Given the description of an element on the screen output the (x, y) to click on. 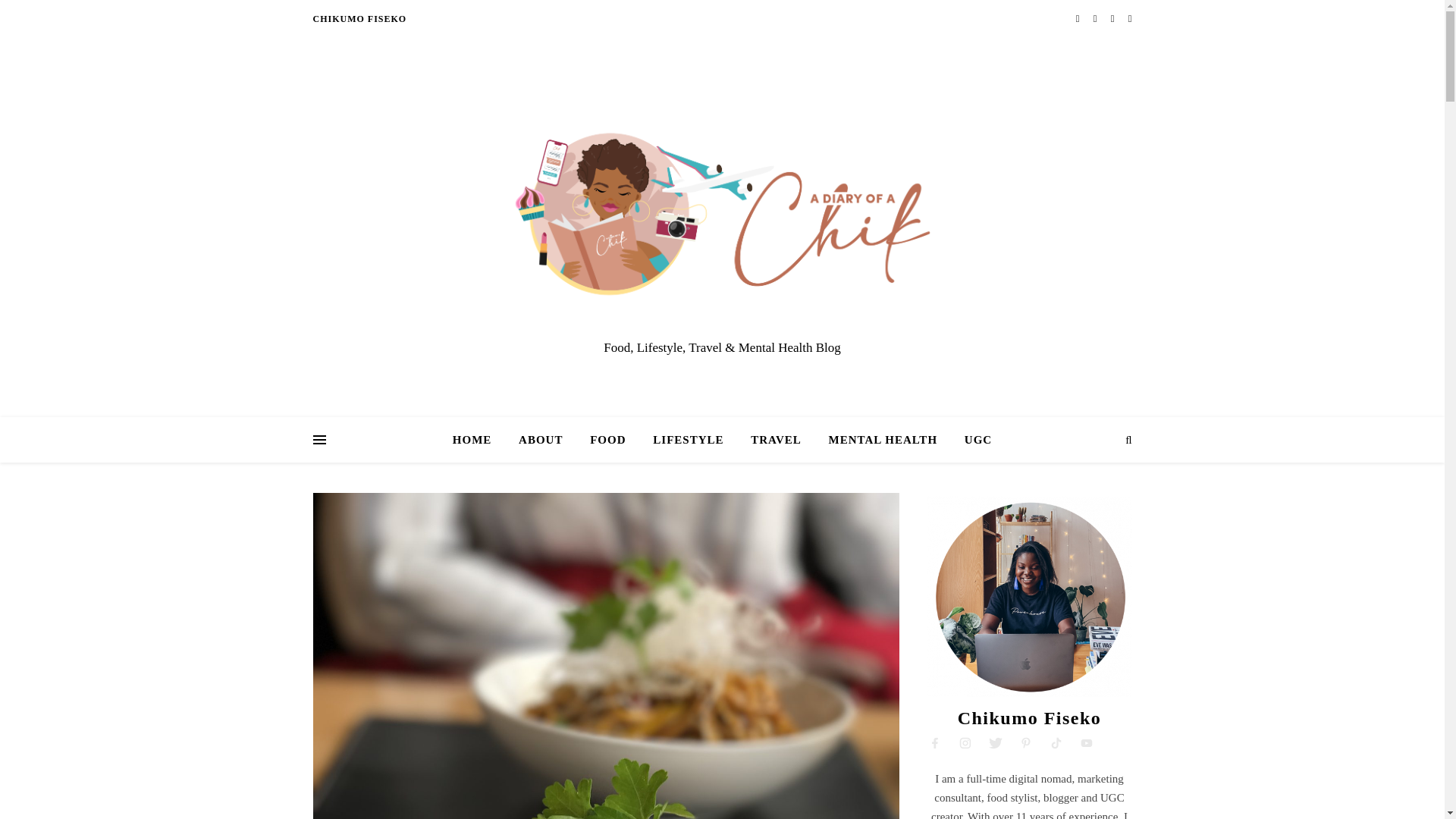
TRAVEL (775, 439)
MENTAL HEALTH (882, 439)
A Diary of A Chik (722, 213)
HOME (477, 439)
CHIKUMO FISEKO (359, 18)
LIFESTYLE (687, 439)
ABOUT (540, 439)
FOOD (607, 439)
